Given the description of an element on the screen output the (x, y) to click on. 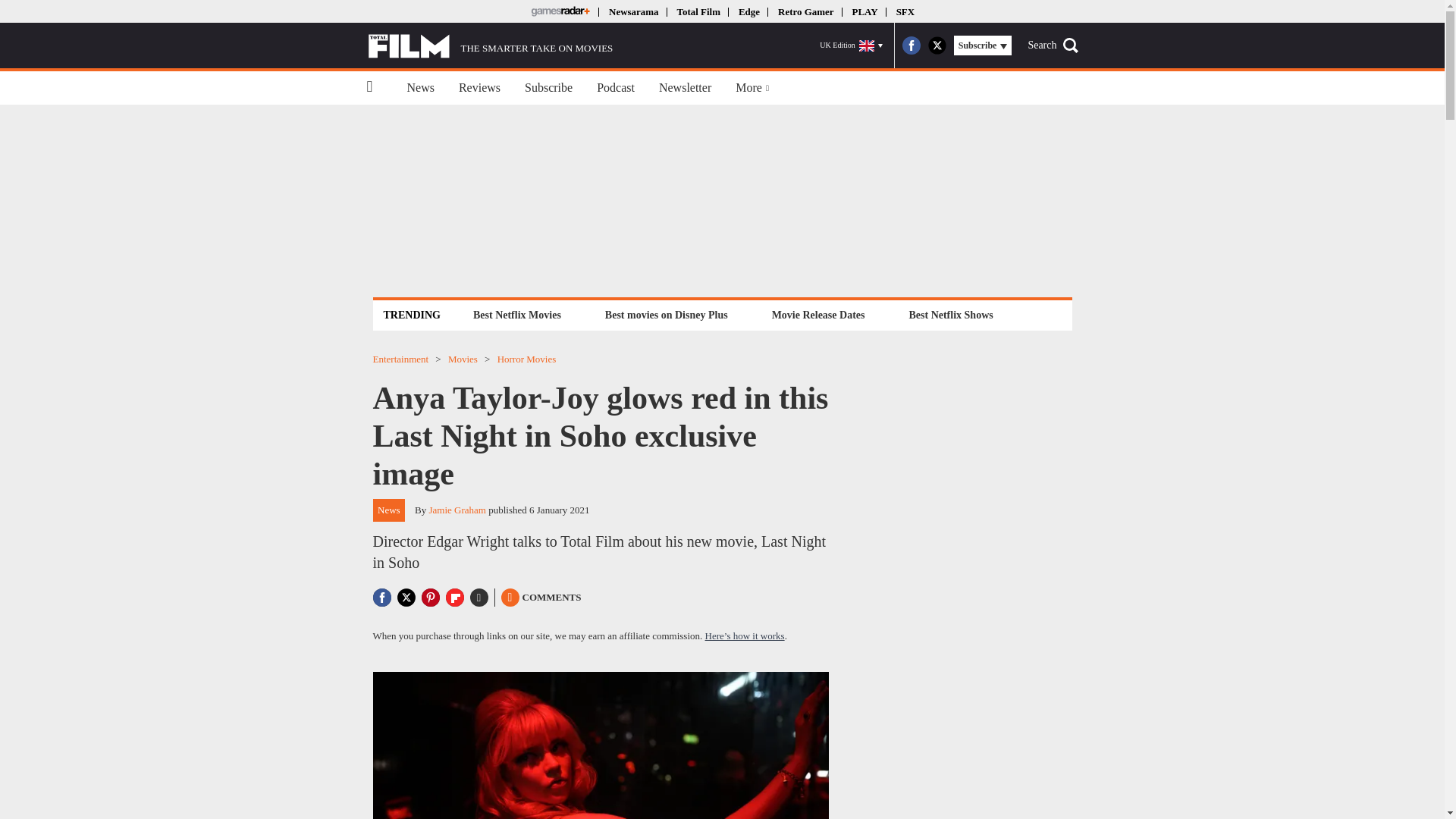
UK Edition (850, 45)
Best movies on Disney Plus (666, 314)
Total Film (698, 11)
THE SMARTER TAKE ON MOVIES (489, 44)
PLAY (864, 11)
Best Netflix Movies (516, 314)
Newsarama (633, 11)
SFX (905, 11)
Podcast (615, 87)
News (419, 87)
